Given the description of an element on the screen output the (x, y) to click on. 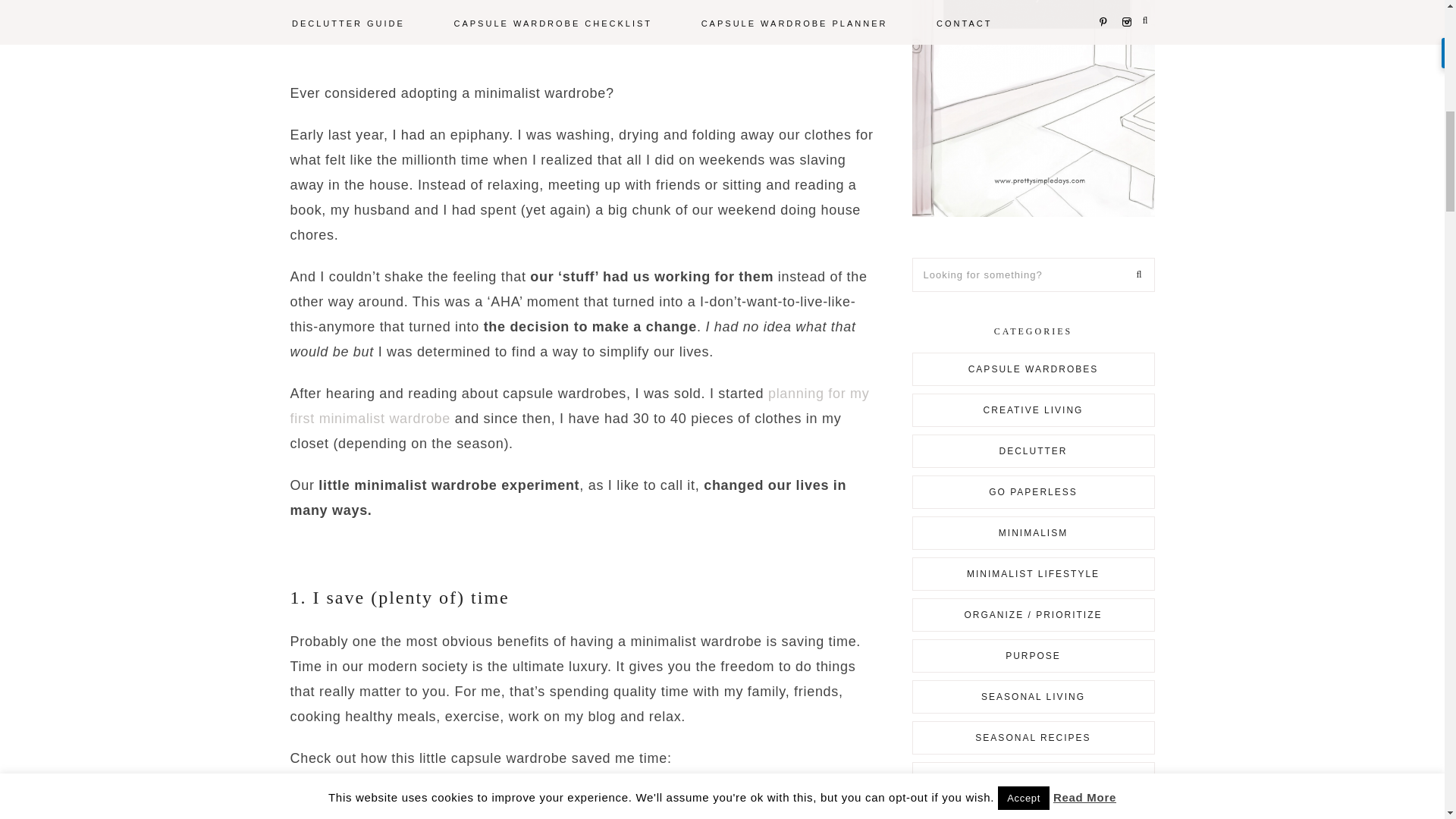
planning for my first minimalist wardrobe (579, 405)
